Given the description of an element on the screen output the (x, y) to click on. 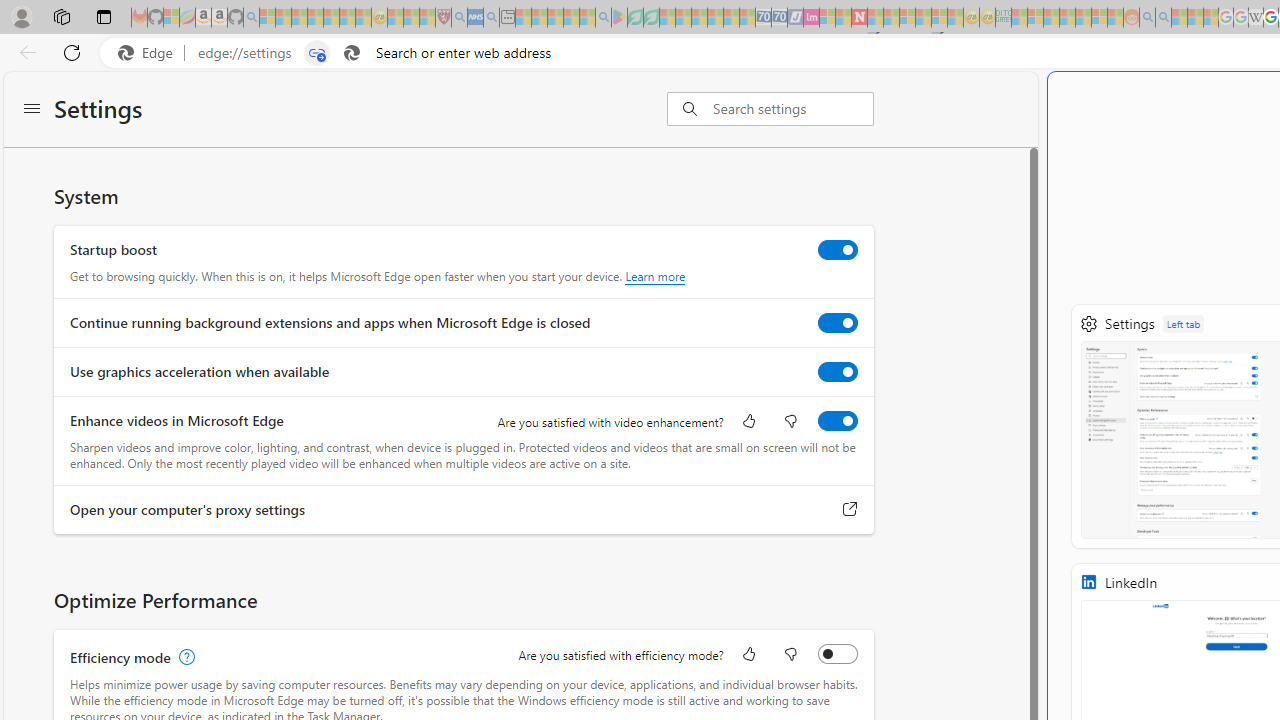
Open your computer's proxy settings (849, 509)
